Given the description of an element on the screen output the (x, y) to click on. 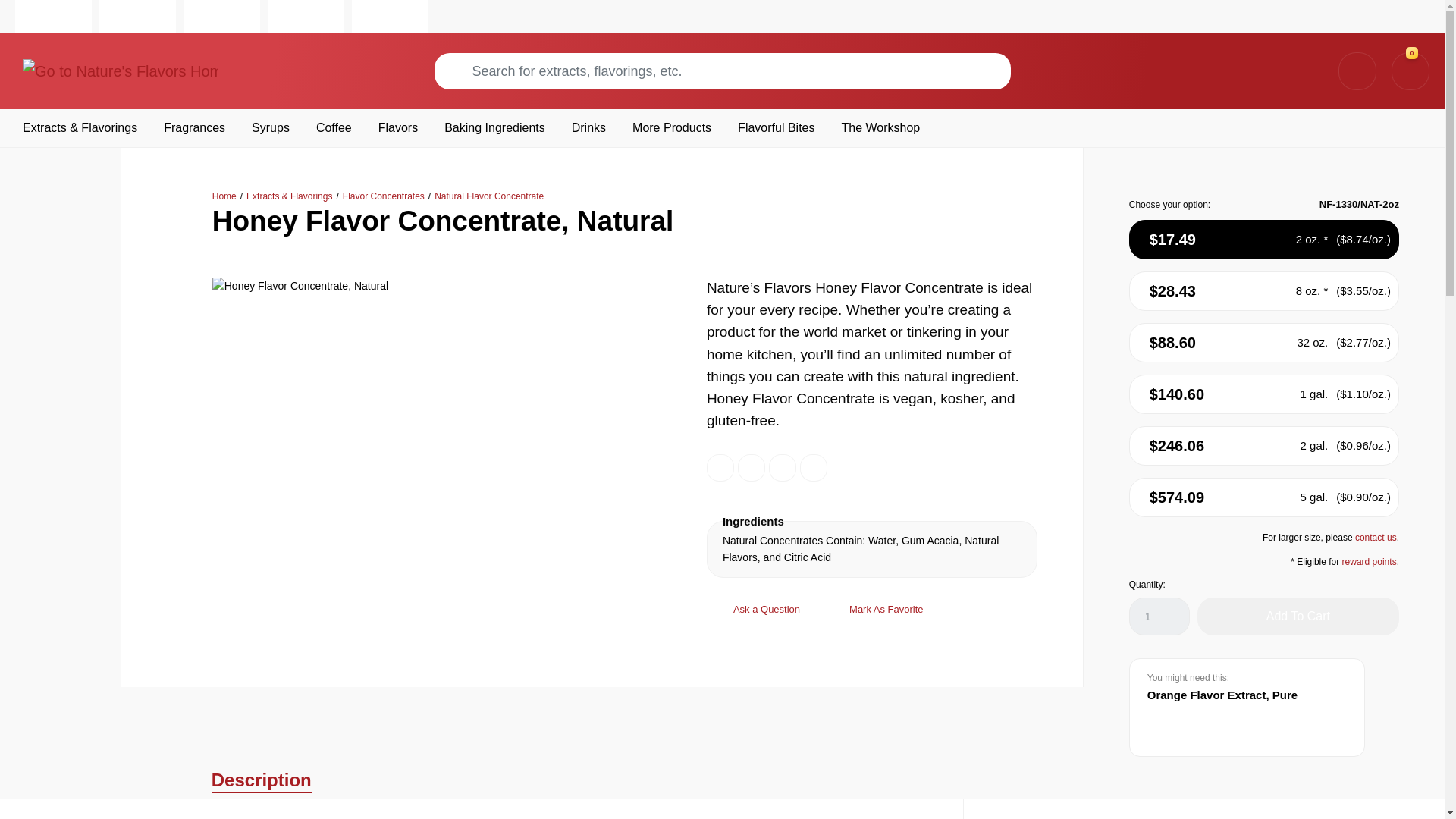
Vegan (813, 467)
0 (1410, 71)
Kosher (751, 467)
Non GMO (782, 467)
Gluten Free (719, 467)
Natures Flavors (52, 16)
Seelect Tea (221, 16)
Naturlax (137, 16)
Yummatcha (305, 16)
